Given the description of an element on the screen output the (x, y) to click on. 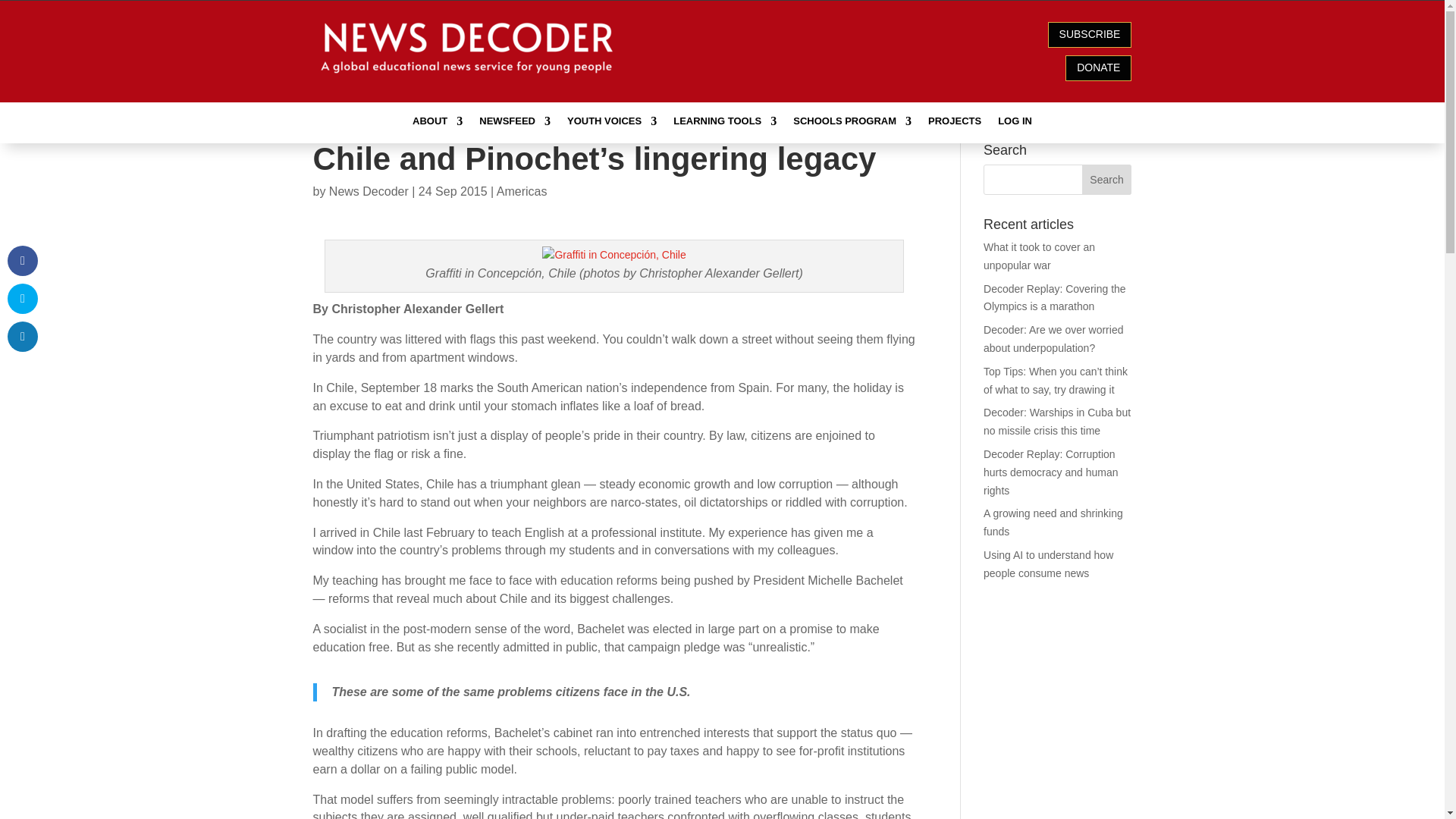
YOUTH VOICES (611, 124)
ABOUT (437, 124)
Search (1106, 179)
DONATE (1098, 68)
NEWSFEED (514, 124)
SUBSCRIBE (1090, 34)
LEARNING TOOLS (724, 124)
logo news decoder 01 e1601914450791 (469, 47)
Posts by News Decoder (369, 191)
